Given the description of an element on the screen output the (x, y) to click on. 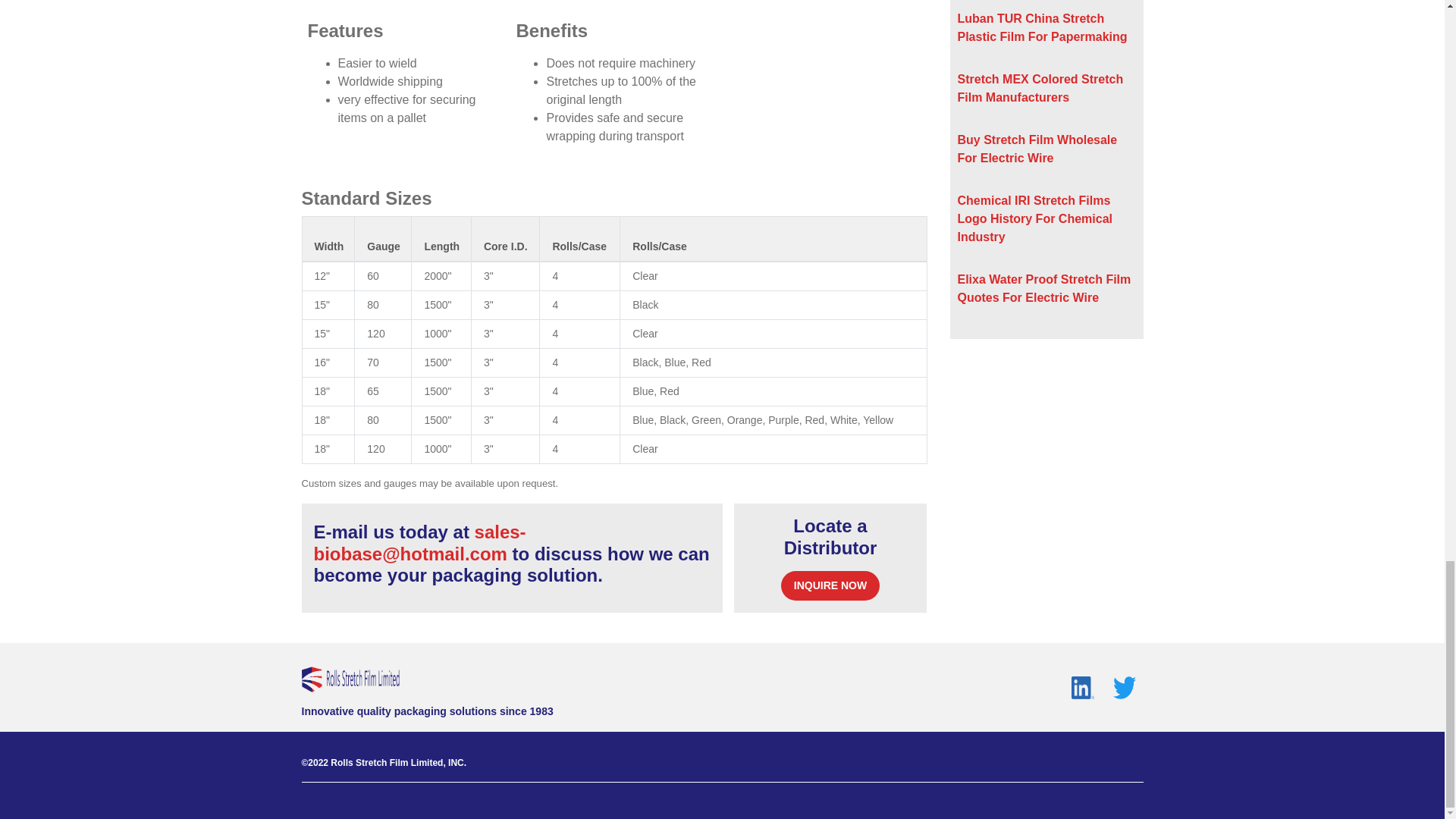
INQUIRE NOW (829, 585)
Luban TUR China Stretch Plastic Film For Papermaking (1041, 27)
